Given the description of an element on the screen output the (x, y) to click on. 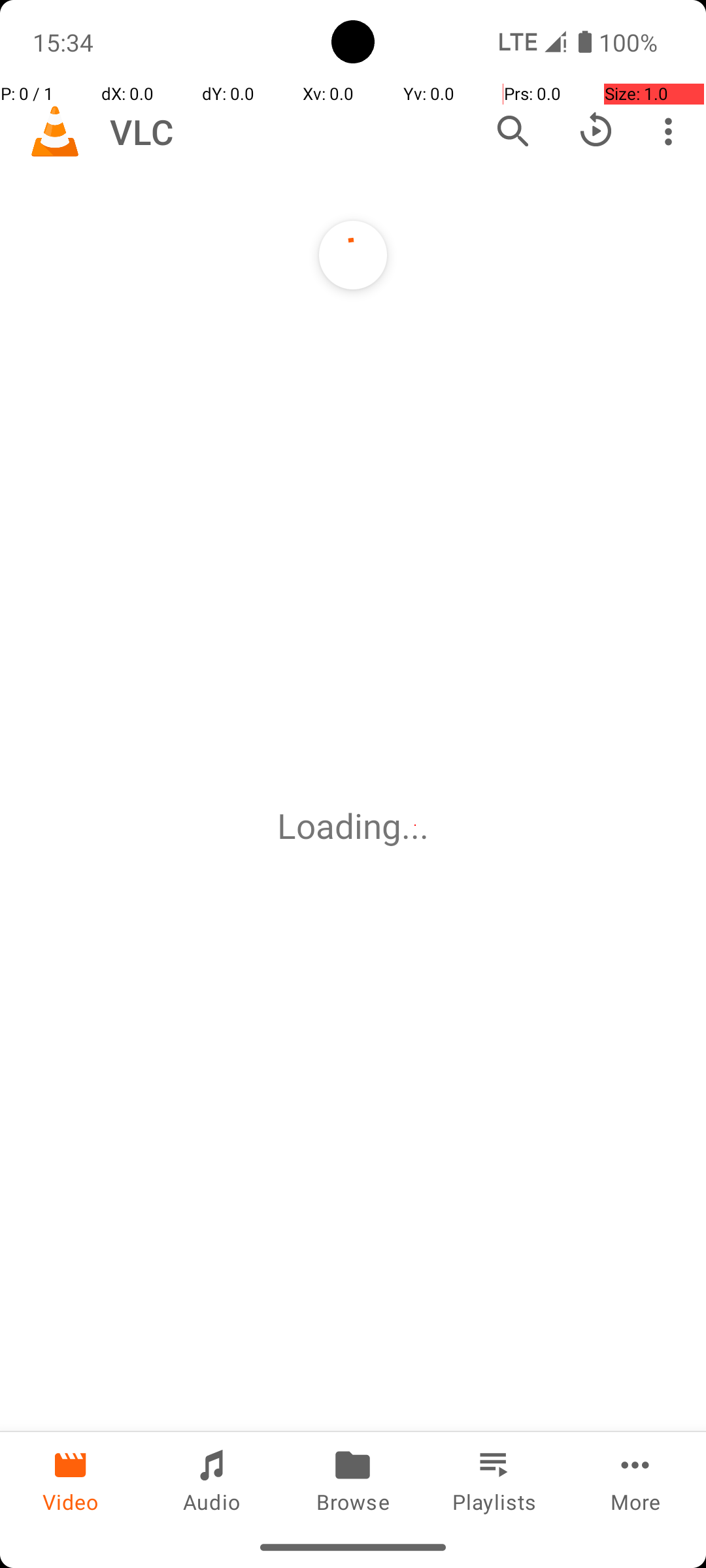
Resume playback Element type: android.widget.TextView (595, 131)
